Given the description of an element on the screen output the (x, y) to click on. 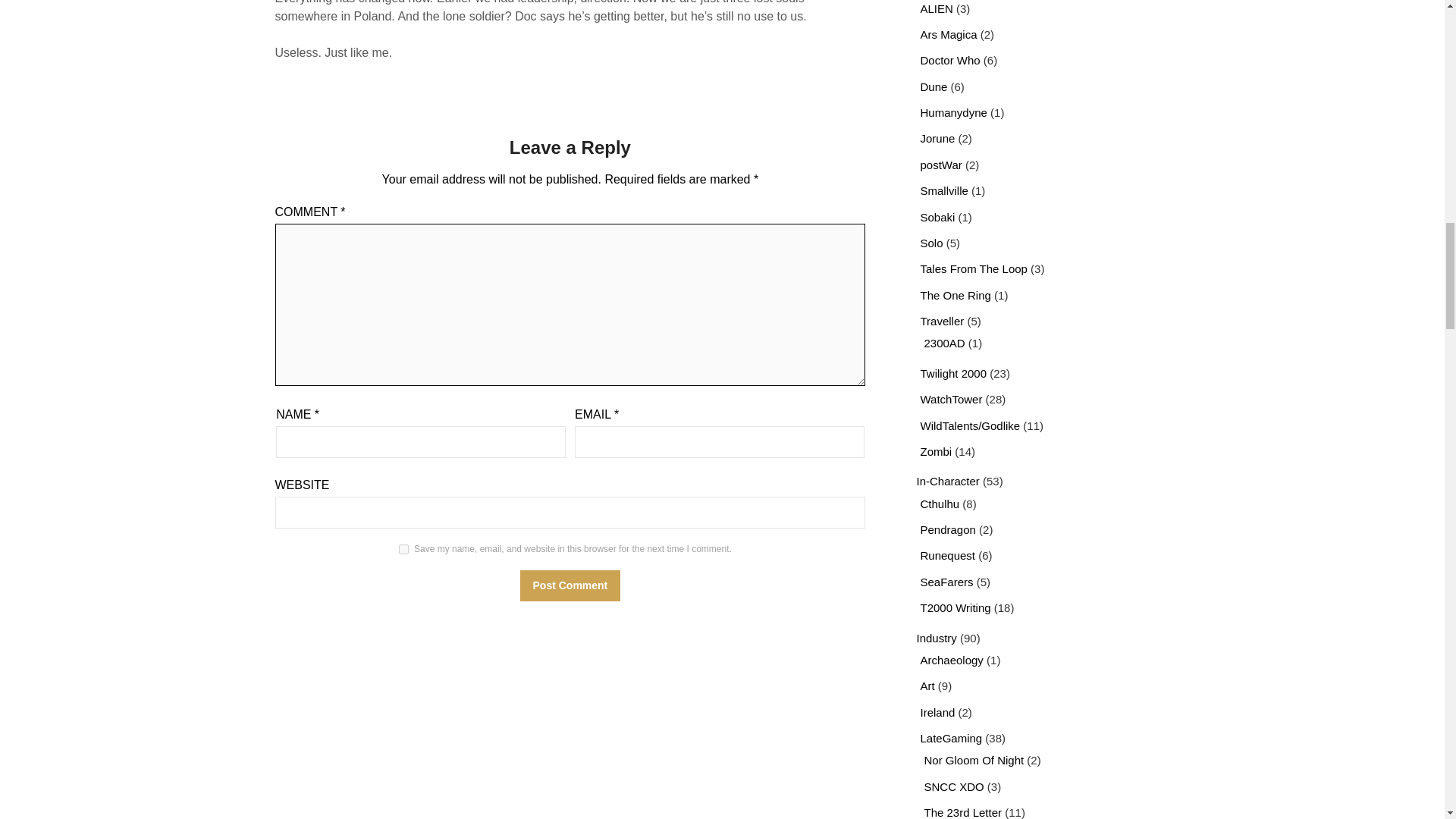
yes (403, 549)
Post Comment (570, 585)
Post Comment (570, 585)
